Given the description of an element on the screen output the (x, y) to click on. 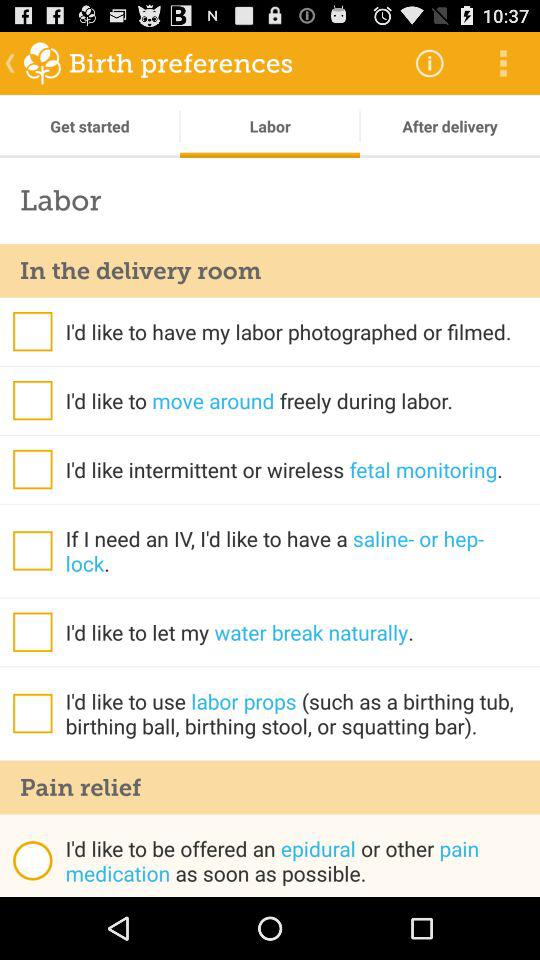
open the item above after delivery app (503, 62)
